Given the description of an element on the screen output the (x, y) to click on. 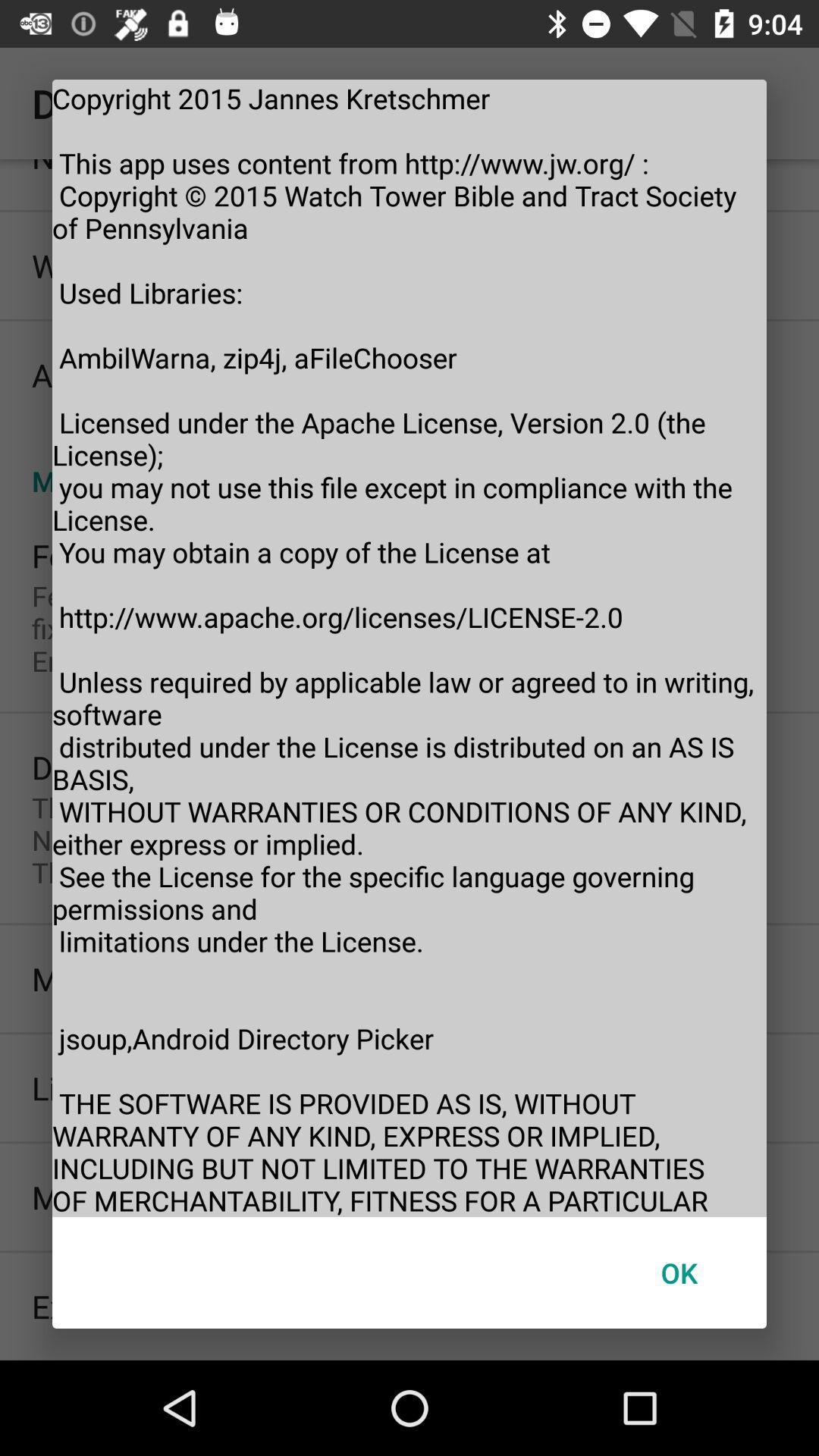
turn off the item at the bottom right corner (678, 1272)
